Given the description of an element on the screen output the (x, y) to click on. 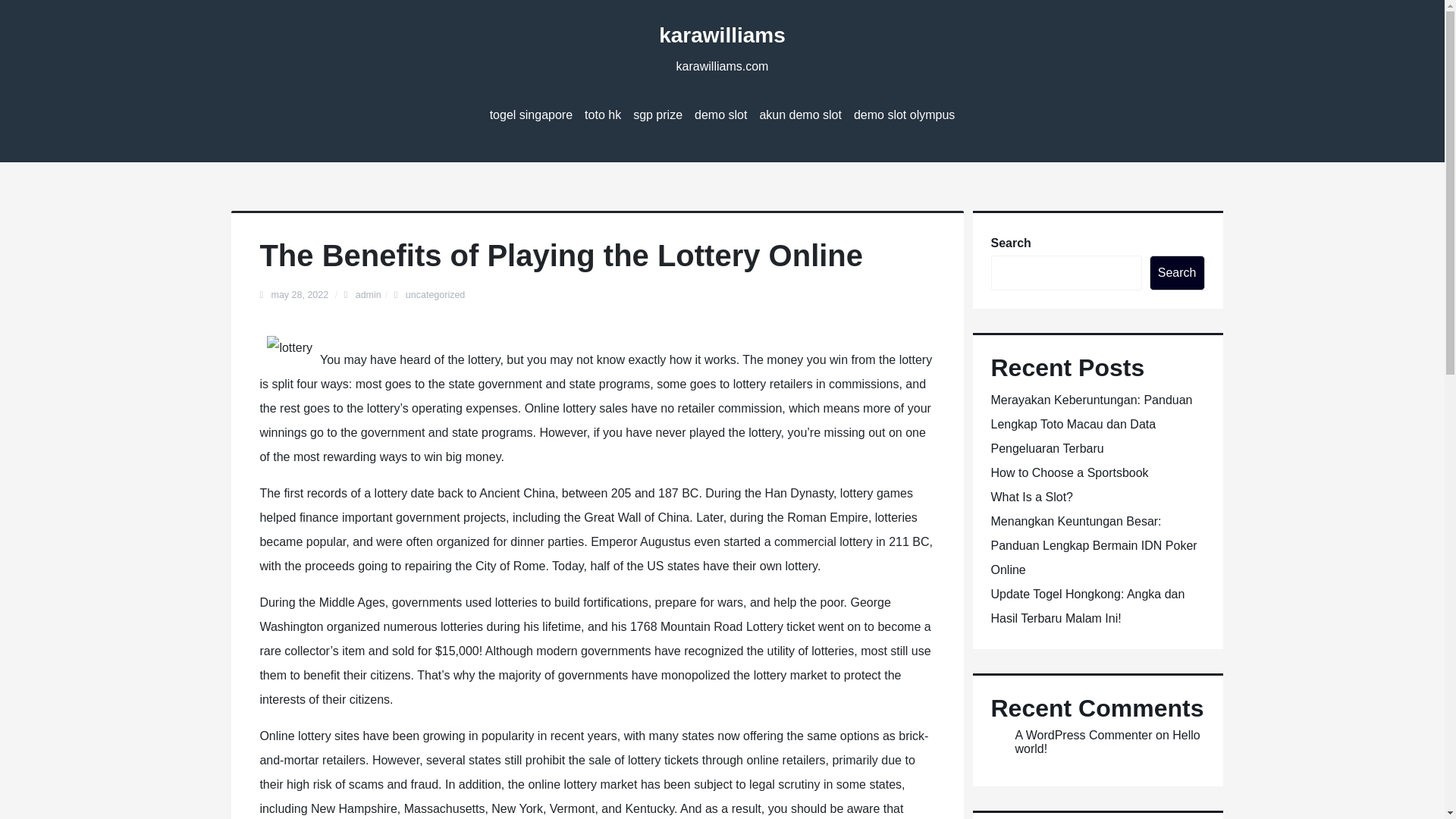
toto hk (602, 115)
akun demo slot (799, 115)
akun demo slot (799, 115)
sgp prize (657, 115)
Hello world! (1106, 741)
togel singapore (530, 115)
karawilliams (722, 34)
demo slot olympus (903, 115)
togel singapore (530, 115)
sgp prize (657, 115)
